Given the description of an element on the screen output the (x, y) to click on. 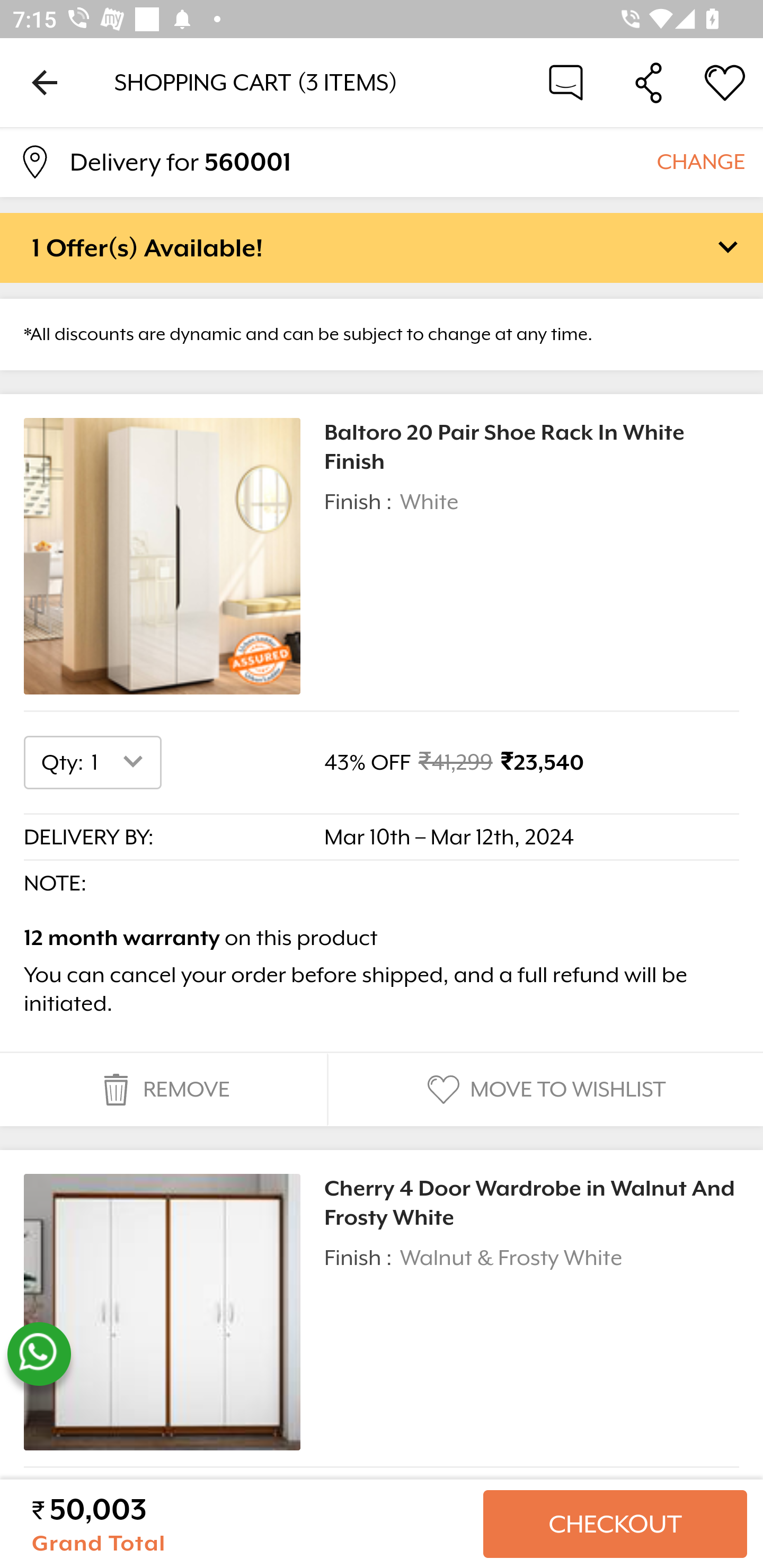
Navigate up (44, 82)
Chat (565, 81)
Share Cart (648, 81)
Wishlist (724, 81)
CHANGE (700, 161)
1 Offer(s) Available! (381, 247)
1 (121, 761)
REMOVE (163, 1089)
MOVE TO WISHLIST (544, 1089)
whatsapp (38, 1353)
₹ 50,003 Grand Total (250, 1523)
CHECKOUT (614, 1523)
